Given the description of an element on the screen output the (x, y) to click on. 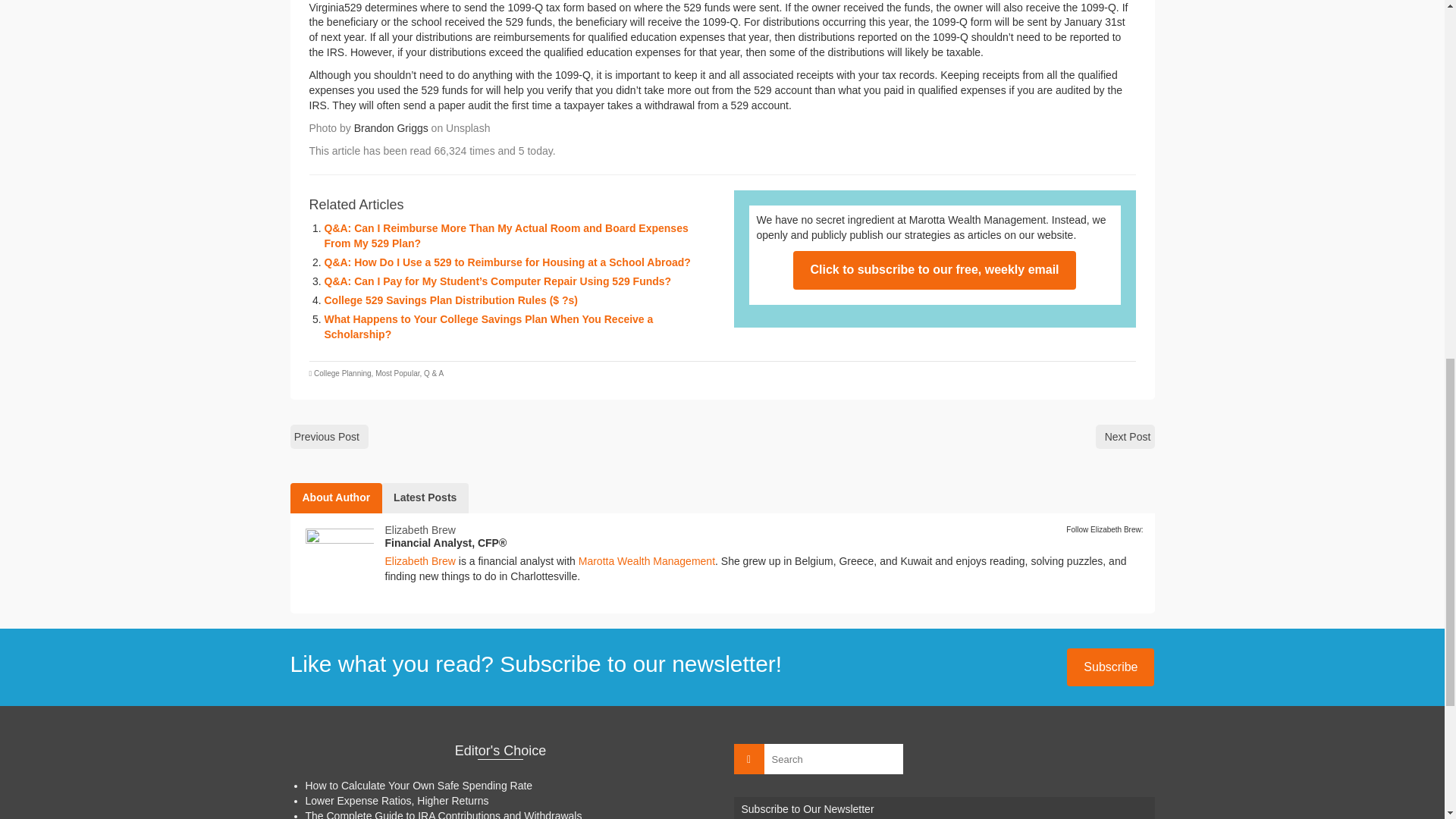
How to Calculate Your Own Safe Spending Rate (418, 785)
Lower Expense Ratios, Higher Returns (395, 800)
The Complete Guide to IRA Contributions and Withdrawals (442, 814)
